Given the description of an element on the screen output the (x, y) to click on. 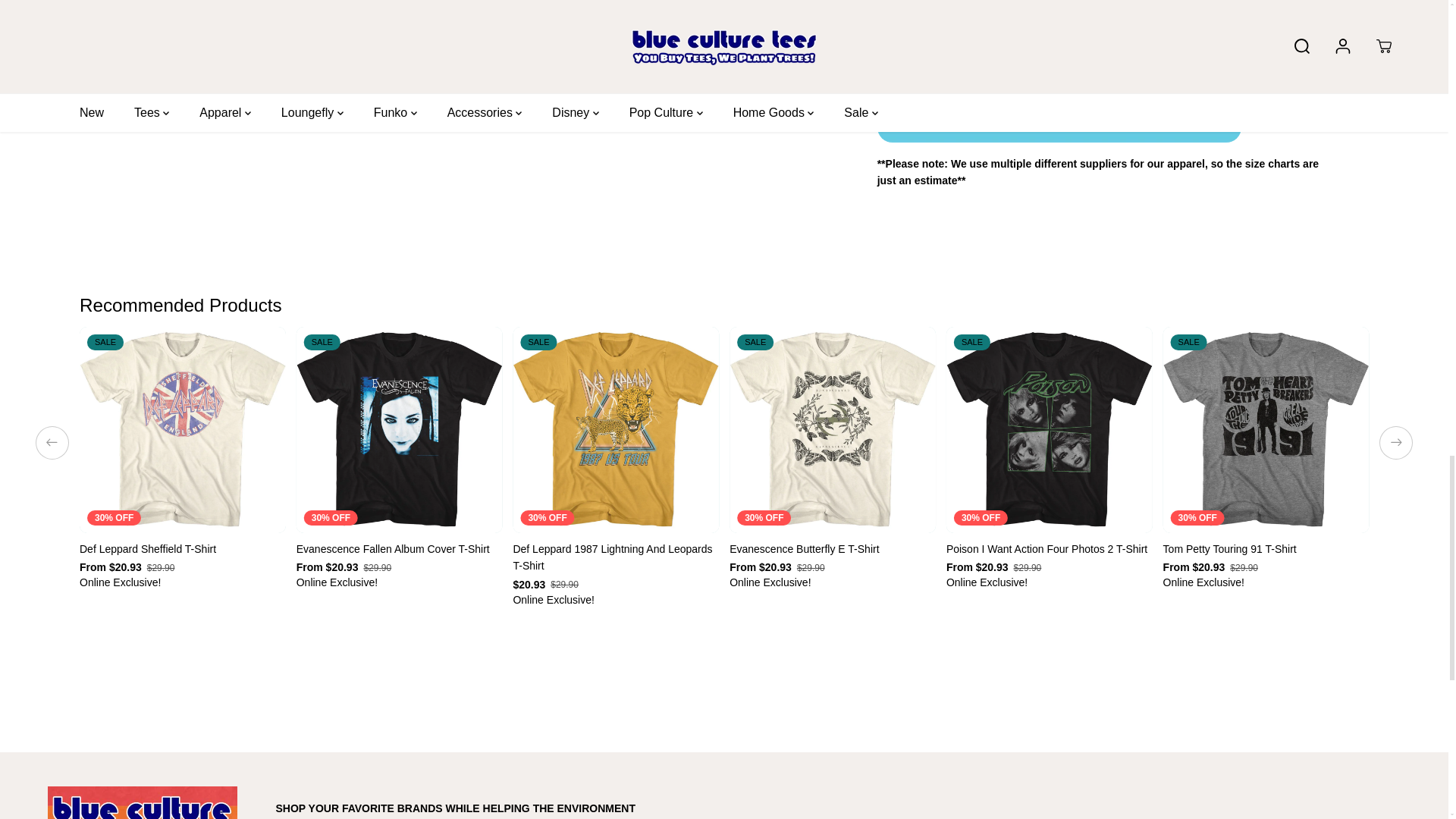
Def Leppard Sheffield T-Shirt (182, 548)
Evanescence Fallen Album Cover T-Shirt (399, 548)
Evanescence Butterfly E T-Shirt (832, 548)
Def Leppard 1987 Lightning And Leopards T-Shirt (615, 557)
Poison I Want Action Four Photos 2 T-Shirt (1049, 548)
Tom Petty Touring 91 T-Shirt (1266, 548)
